Given the description of an element on the screen output the (x, y) to click on. 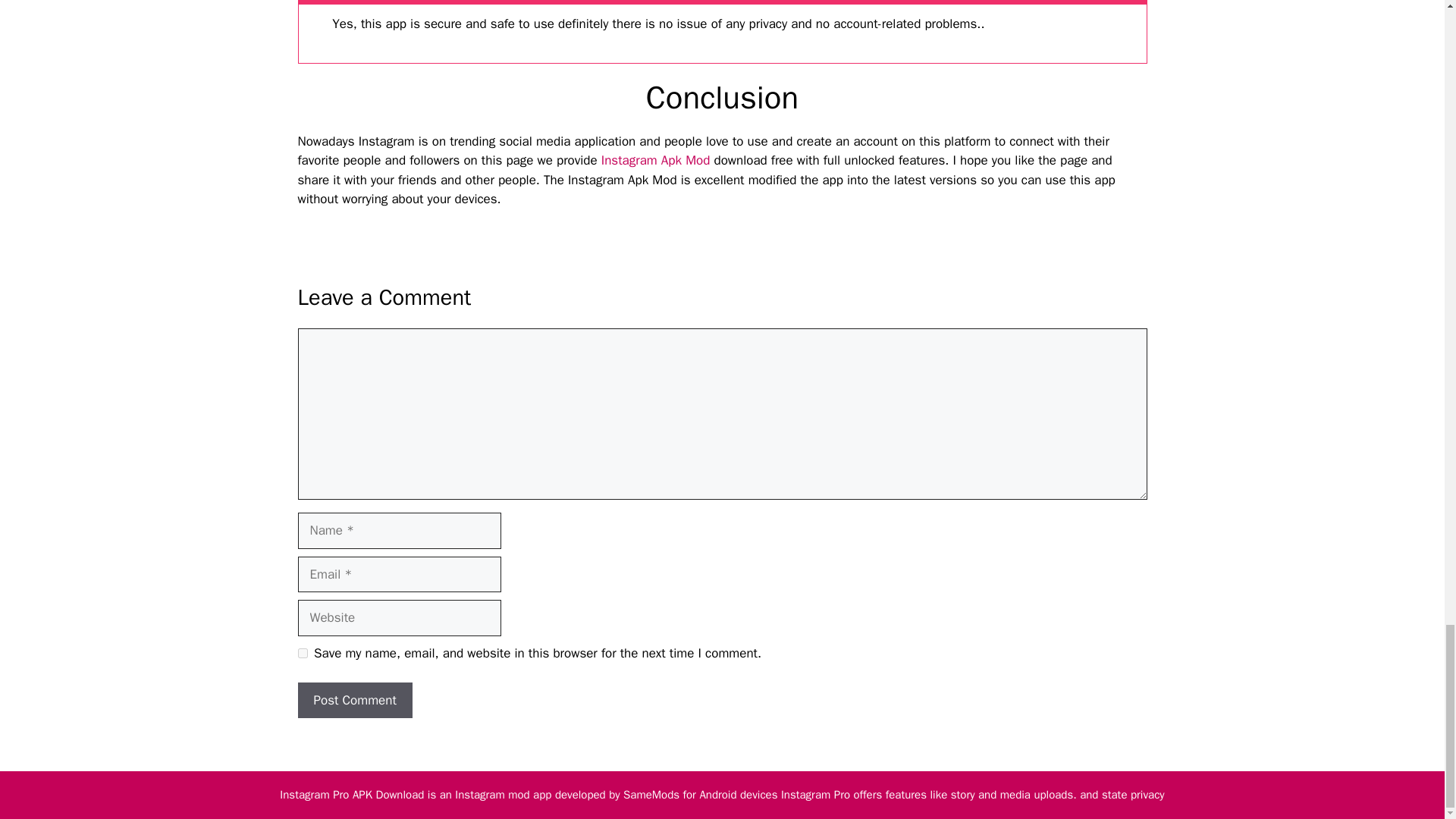
Instagram Apk Mod (655, 160)
Post Comment (354, 700)
yes (302, 653)
Post Comment (354, 700)
